Given the description of an element on the screen output the (x, y) to click on. 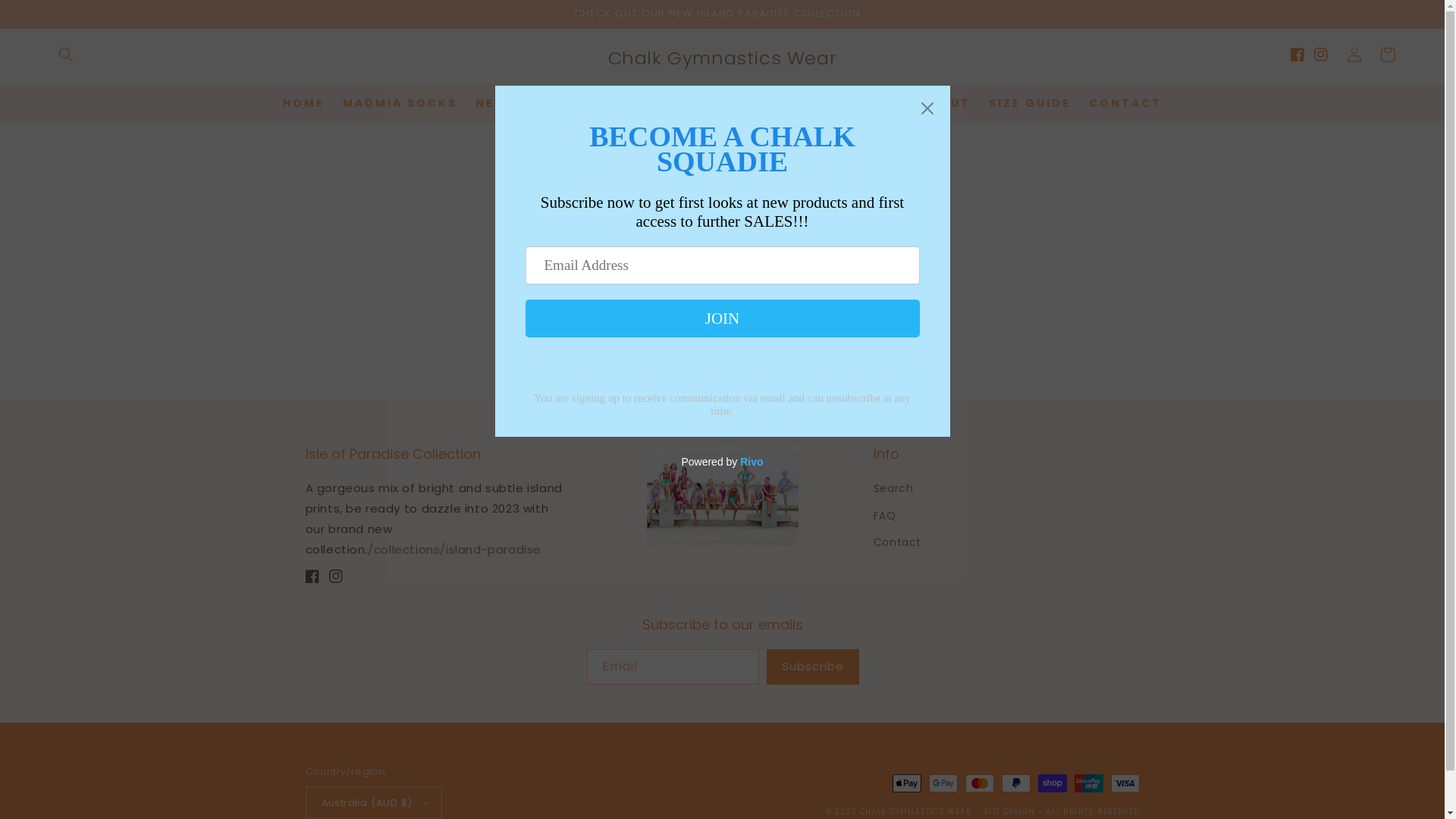
Instagram Element type: text (340, 576)
FAQ Element type: text (884, 515)
Subscribe Element type: text (811, 666)
Search Element type: text (893, 490)
Chalk Gymnastics Wear Element type: text (722, 54)
CHALK GYMNASTICS WEAR Element type: text (915, 811)
Log in Element type: text (1354, 54)
CLUBS Element type: text (716, 103)
SIZE GUIDE Element type: text (1029, 103)
Contact Element type: text (897, 542)
Instagram Element type: text (1325, 54)
CONTACT Element type: text (1124, 103)
ABOUT Element type: text (944, 103)
/collections/island-paradise Element type: text (454, 549)
Australia (AUD $) Element type: text (373, 802)
Continue shopping Element type: text (722, 328)
HOME Element type: text (303, 103)
CUSTOM LEOTARDS Element type: text (829, 103)
Facebook Element type: text (316, 576)
NEW ARRIVALS Element type: text (528, 103)
- SITE DESIGN - Element type: text (1010, 811)
Facebook Element type: text (1302, 54)
MADMIA SOCKS Element type: text (399, 103)
